Given the description of an element on the screen output the (x, y) to click on. 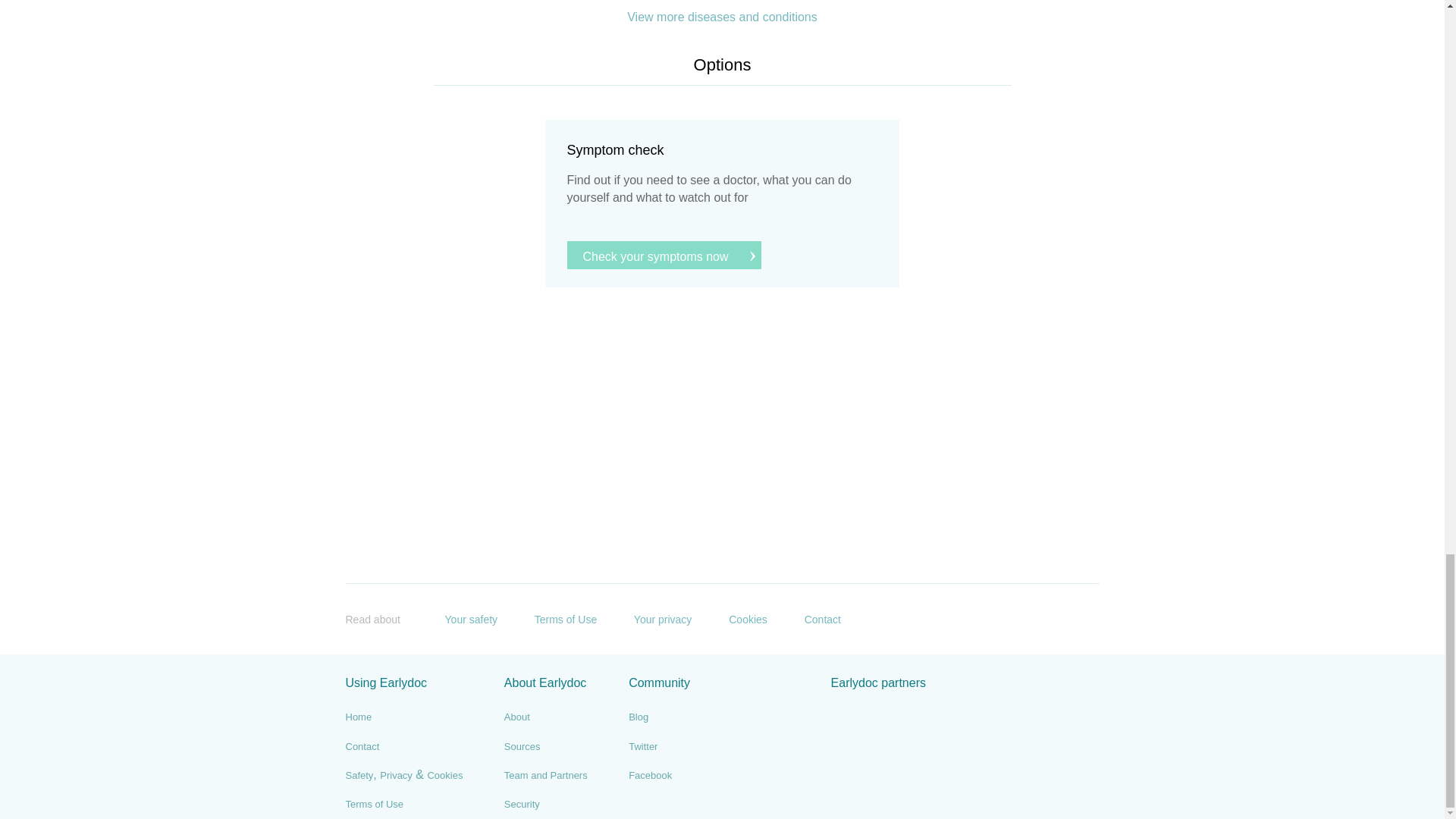
Facebook (649, 775)
Twitter (643, 746)
Terms of Use (554, 617)
Privacy (396, 775)
Team and Partners (545, 775)
Your privacy (651, 617)
Sources (521, 746)
Safety (360, 775)
Contact (363, 746)
About (516, 717)
View more diseases and conditions (721, 16)
Your safety (459, 617)
Cookies (736, 617)
Contact (811, 617)
Cookies (444, 775)
